Given the description of an element on the screen output the (x, y) to click on. 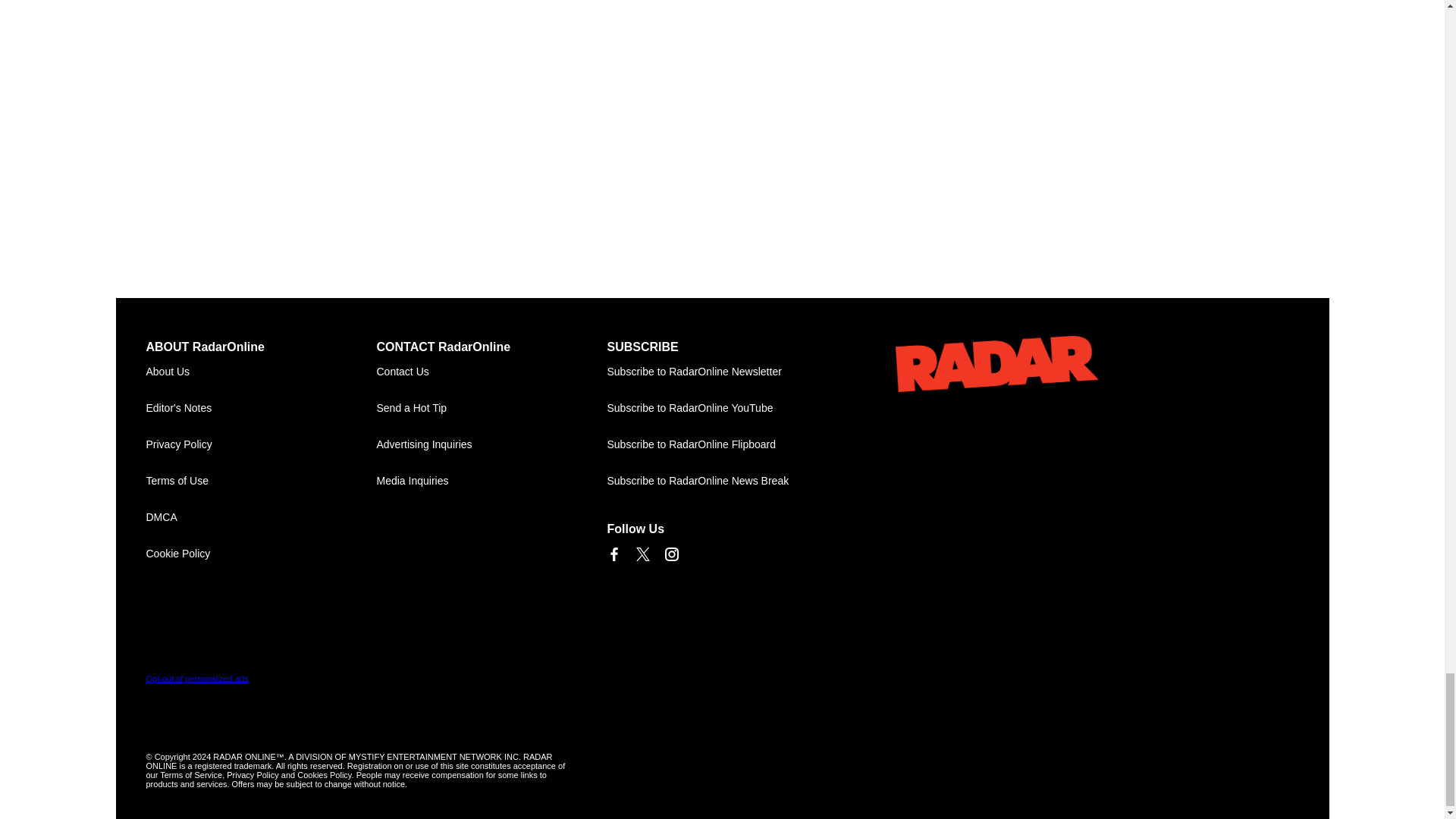
Send a Hot Tip (491, 408)
Media Inquiries (491, 481)
Editor's Notes (260, 408)
About Us (260, 371)
About Us (260, 371)
Subscribe (722, 371)
Link to X (641, 554)
Cookie Policy (260, 554)
Advertising Inquiries (491, 444)
Link to Facebook (613, 554)
